Given the description of an element on the screen output the (x, y) to click on. 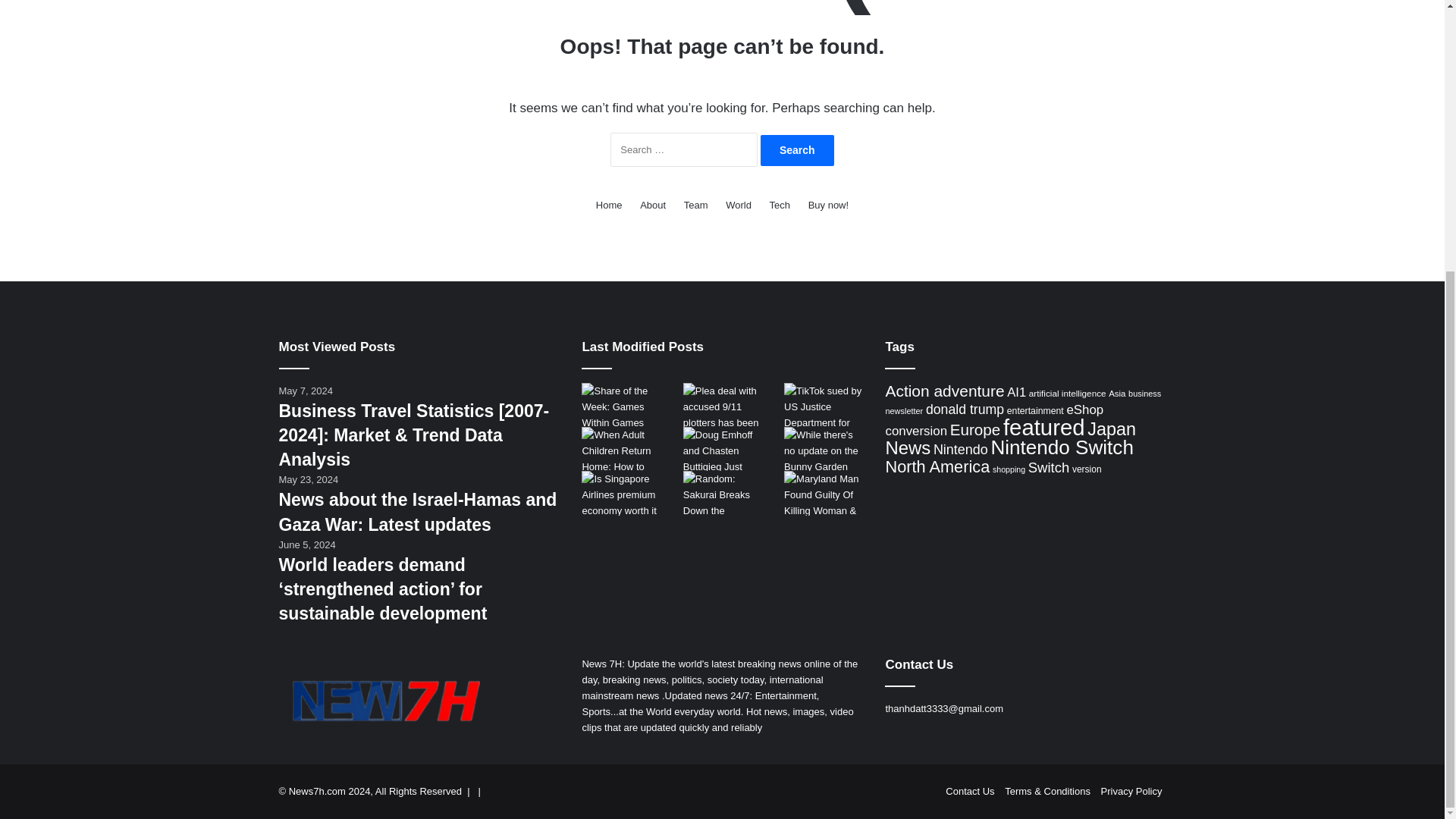
Team (695, 204)
Search (797, 150)
Search (797, 150)
About (652, 204)
Search (797, 150)
Tech (780, 204)
Buy now! (828, 204)
Buy now! (828, 204)
Home (609, 204)
World (738, 204)
